Given the description of an element on the screen output the (x, y) to click on. 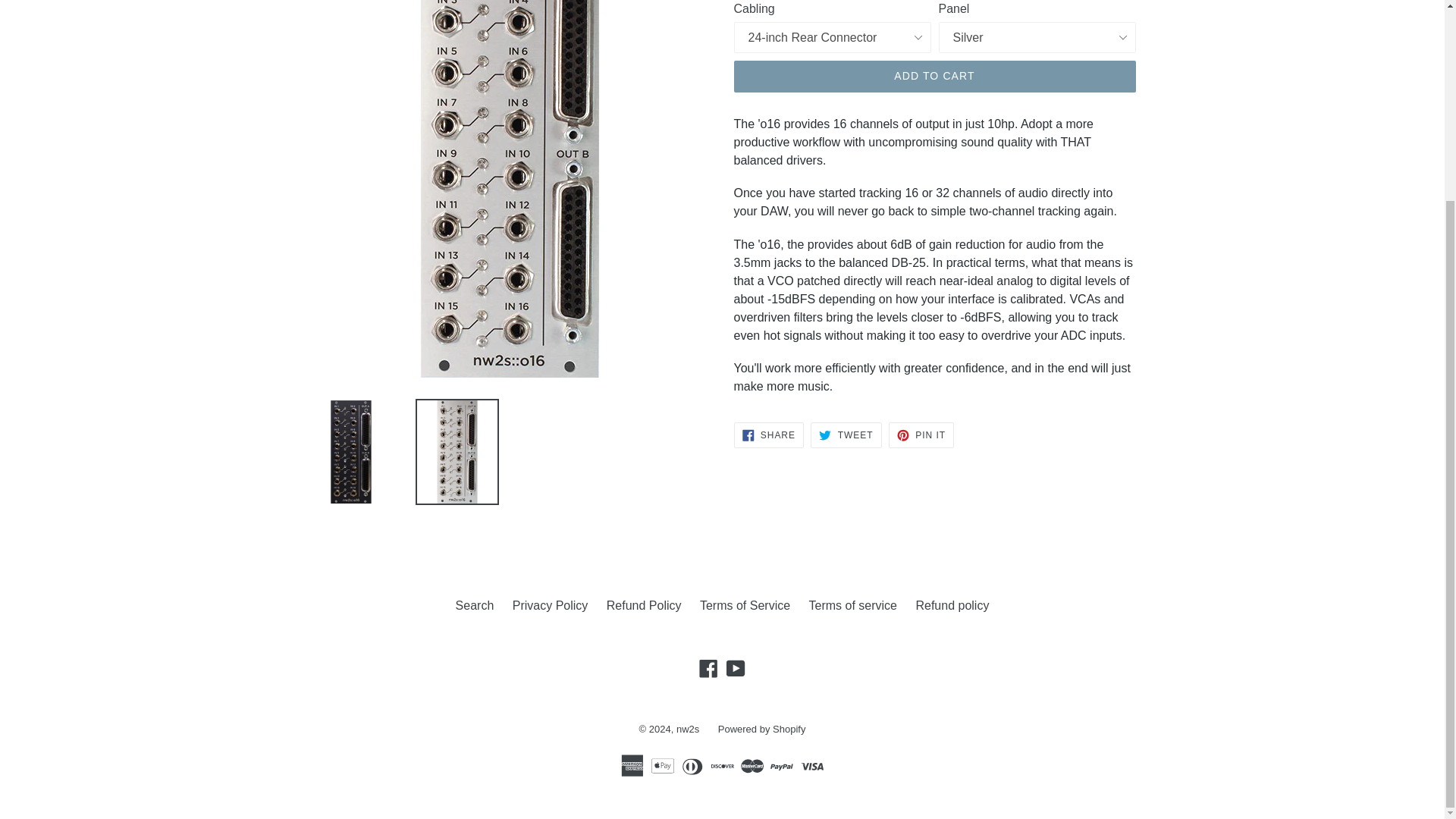
ADD TO CART (934, 76)
Pin on Pinterest (920, 434)
Search (768, 434)
Facebook (475, 604)
YouTube (708, 668)
Share on Facebook (735, 668)
Tweet on Twitter (768, 434)
Terms of Service (845, 434)
Powered by Shopify (745, 604)
Refund policy (761, 728)
nw2s on YouTube (951, 604)
nw2s on Facebook (920, 434)
nw2s (735, 668)
